Given the description of an element on the screen output the (x, y) to click on. 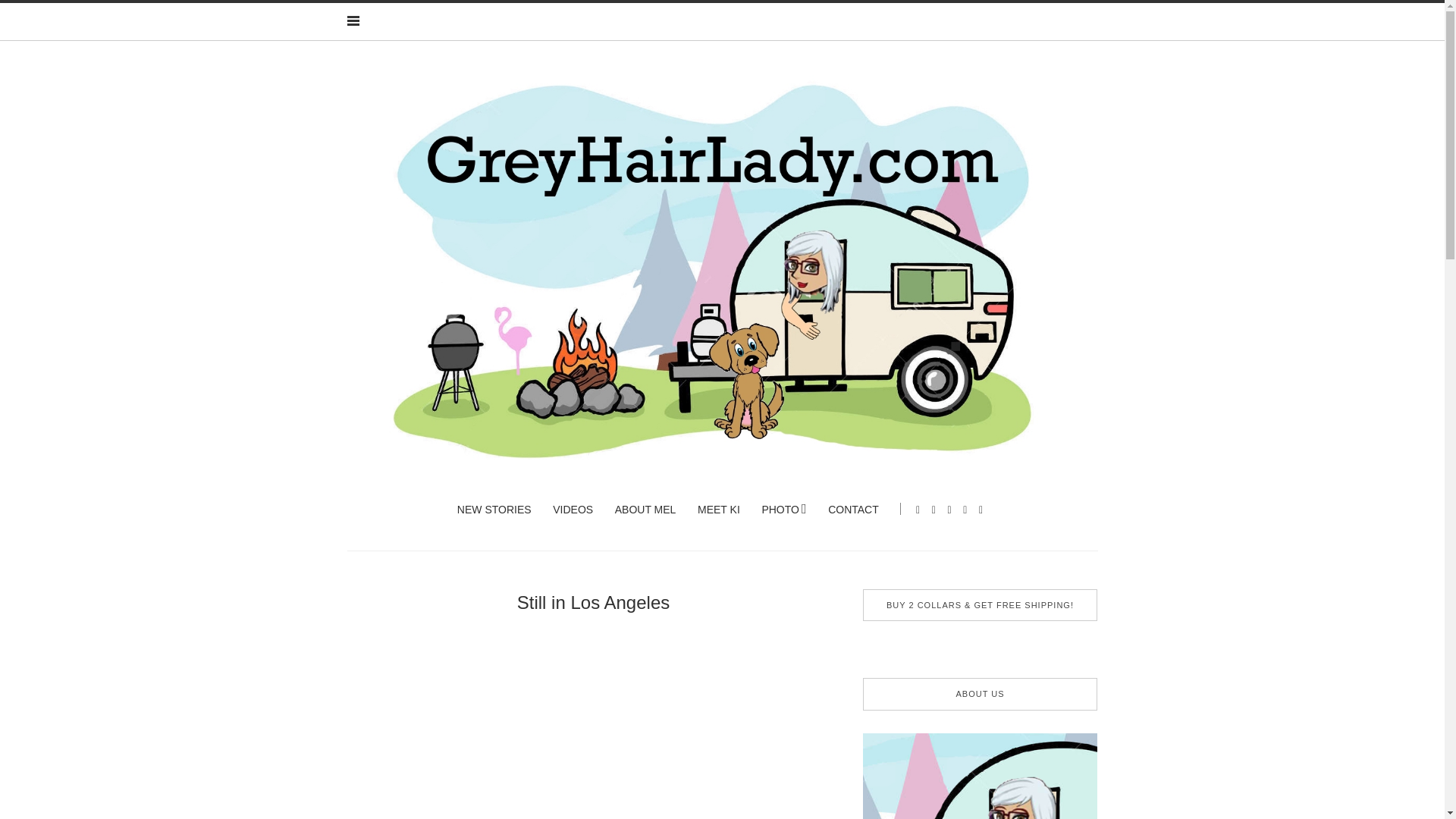
NEW STORIES (494, 509)
